Given the description of an element on the screen output the (x, y) to click on. 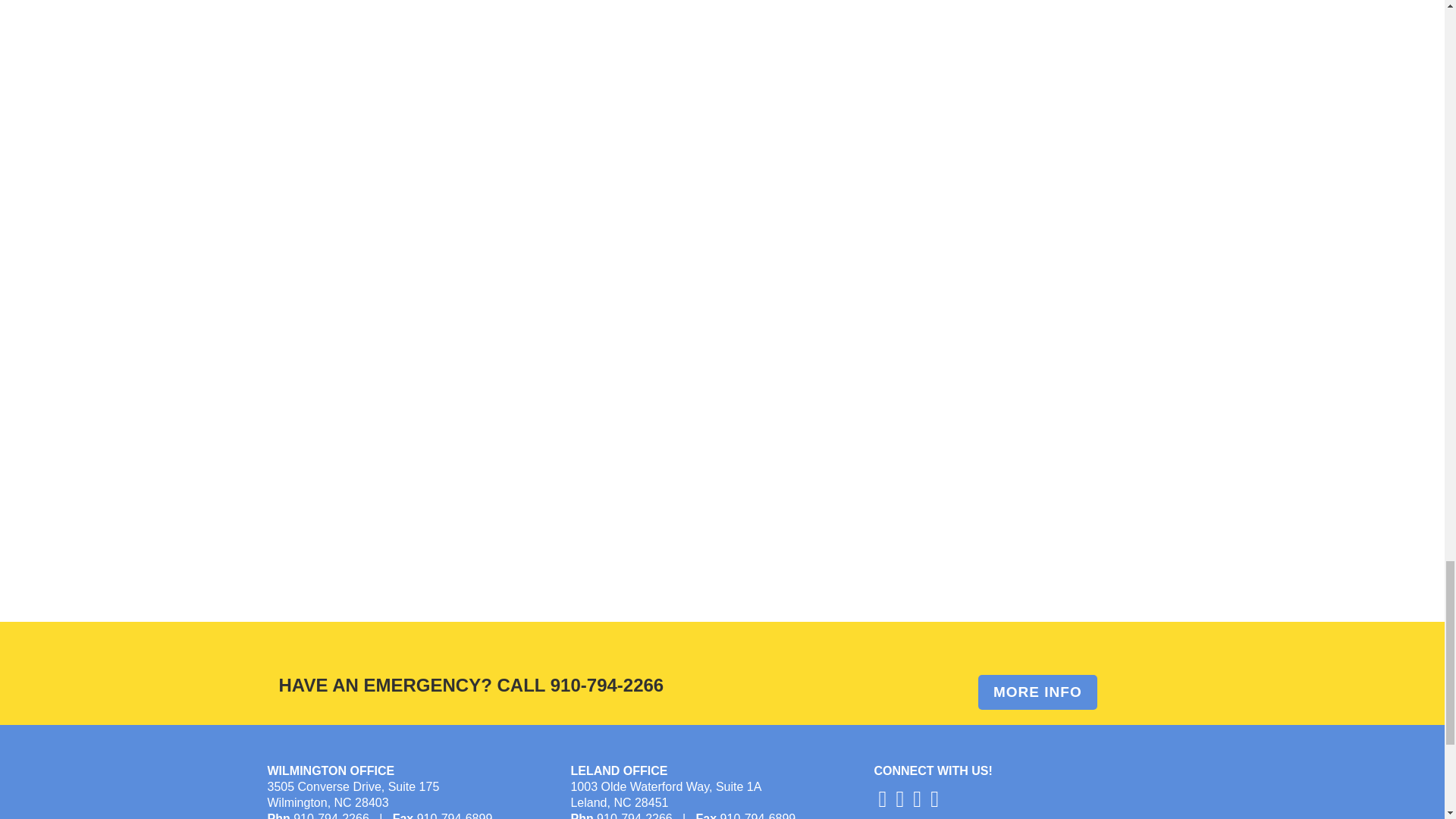
MORE INFO (1037, 692)
